Given the description of an element on the screen output the (x, y) to click on. 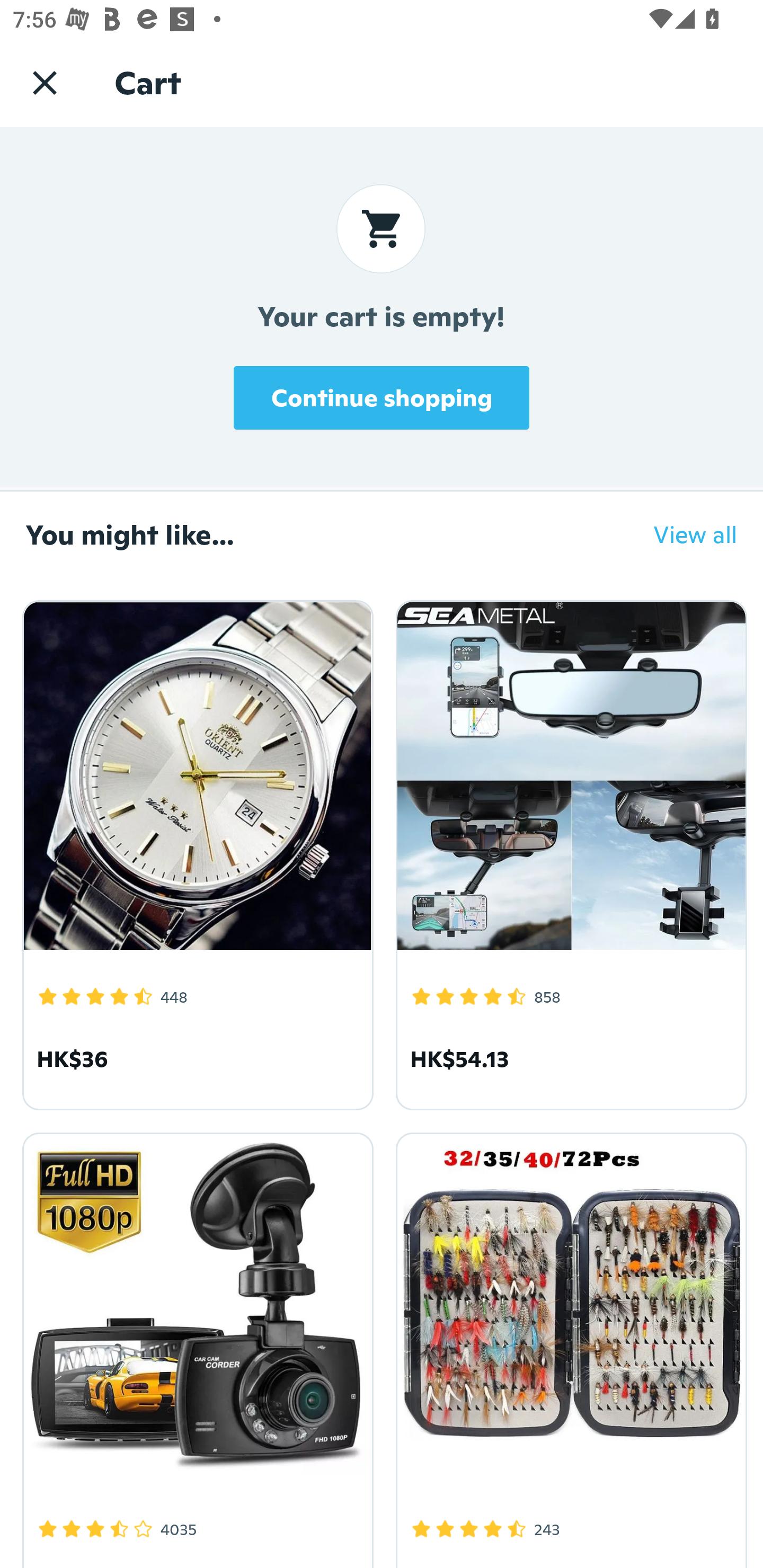
Navigate up (44, 82)
Continue shopping (381, 397)
View all (682, 534)
4.6 Star Rating 448 HK$36 (194, 852)
4.3 Star Rating 858 HK$54.13 (567, 852)
3.7 Star Rating 4035 (194, 1346)
4.3 Star Rating 243 (567, 1346)
